Given the description of an element on the screen output the (x, y) to click on. 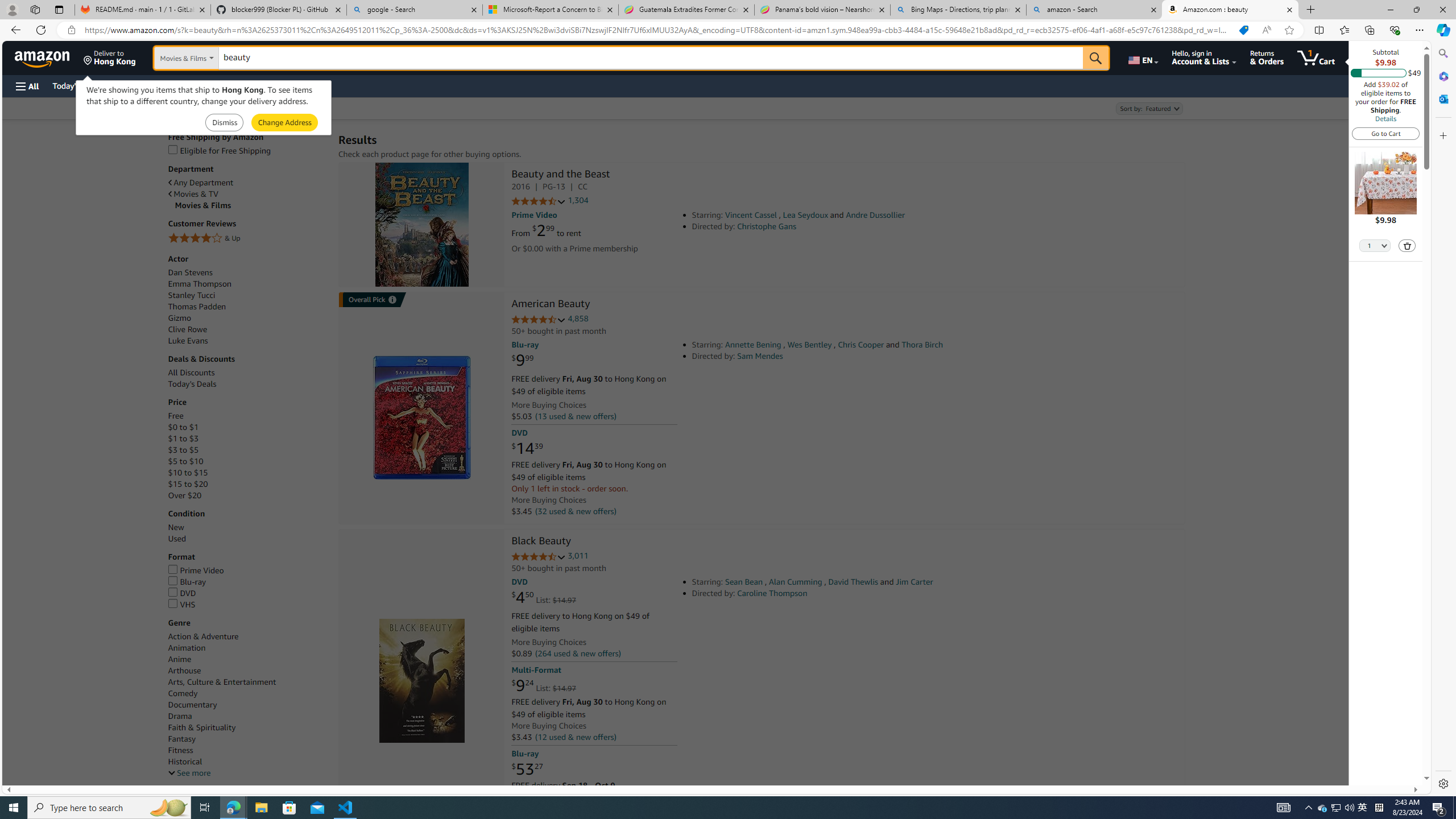
(264 used & new offers) (577, 653)
$3 to $5 (247, 450)
Stanley Tucci (247, 295)
Drama (179, 715)
Today's Deals (247, 384)
Details (1385, 118)
Documentary (191, 704)
Gift Cards (251, 85)
Faith & Spirituality (201, 727)
4 Stars & Up& Up (247, 238)
New (175, 527)
Directed by: Caroline Thompson (850, 593)
Used (176, 538)
